Given the description of an element on the screen output the (x, y) to click on. 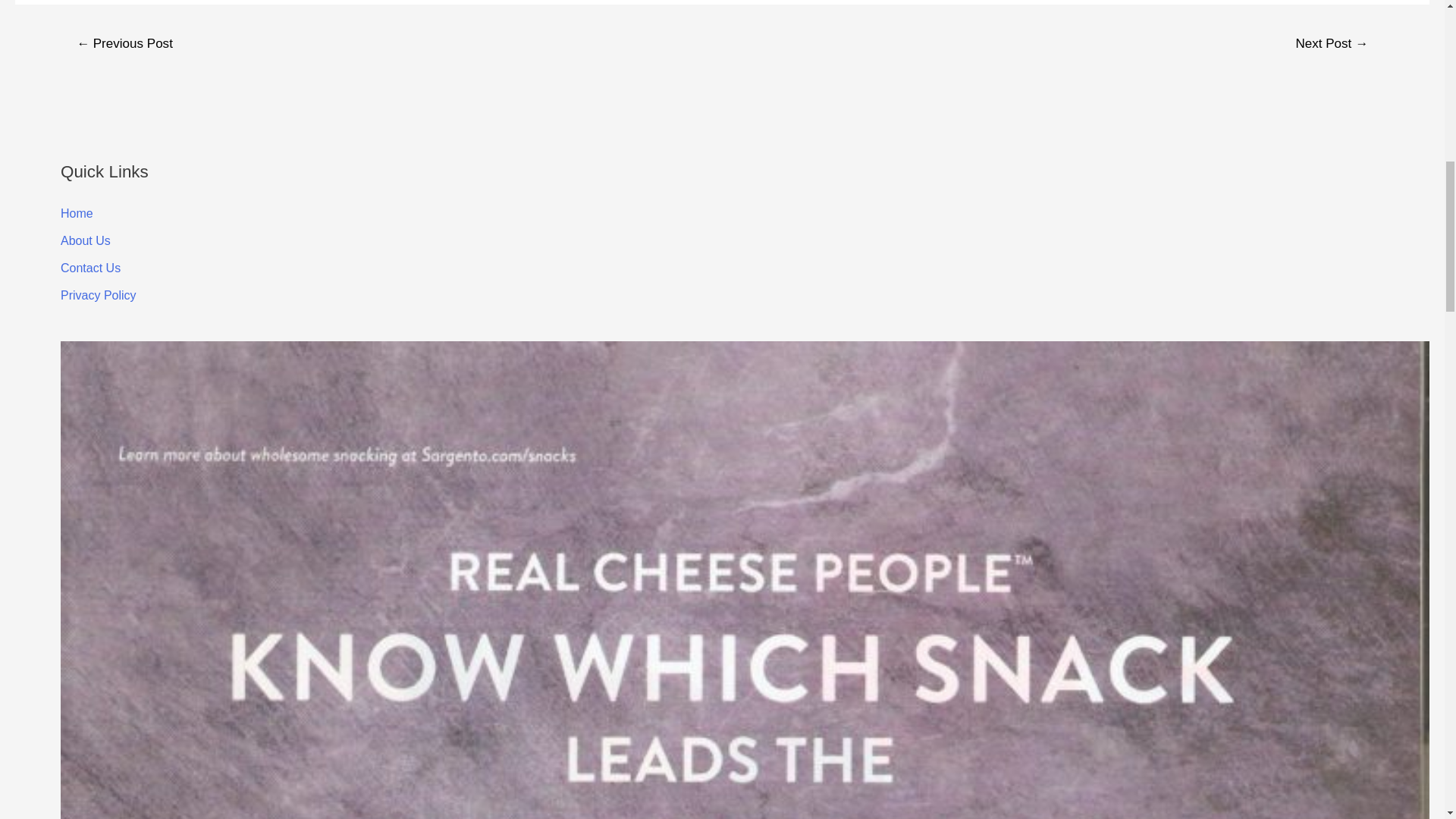
About Us (85, 240)
Contact Us (90, 267)
Home (77, 213)
Privacy Policy (98, 295)
